Given the description of an element on the screen output the (x, y) to click on. 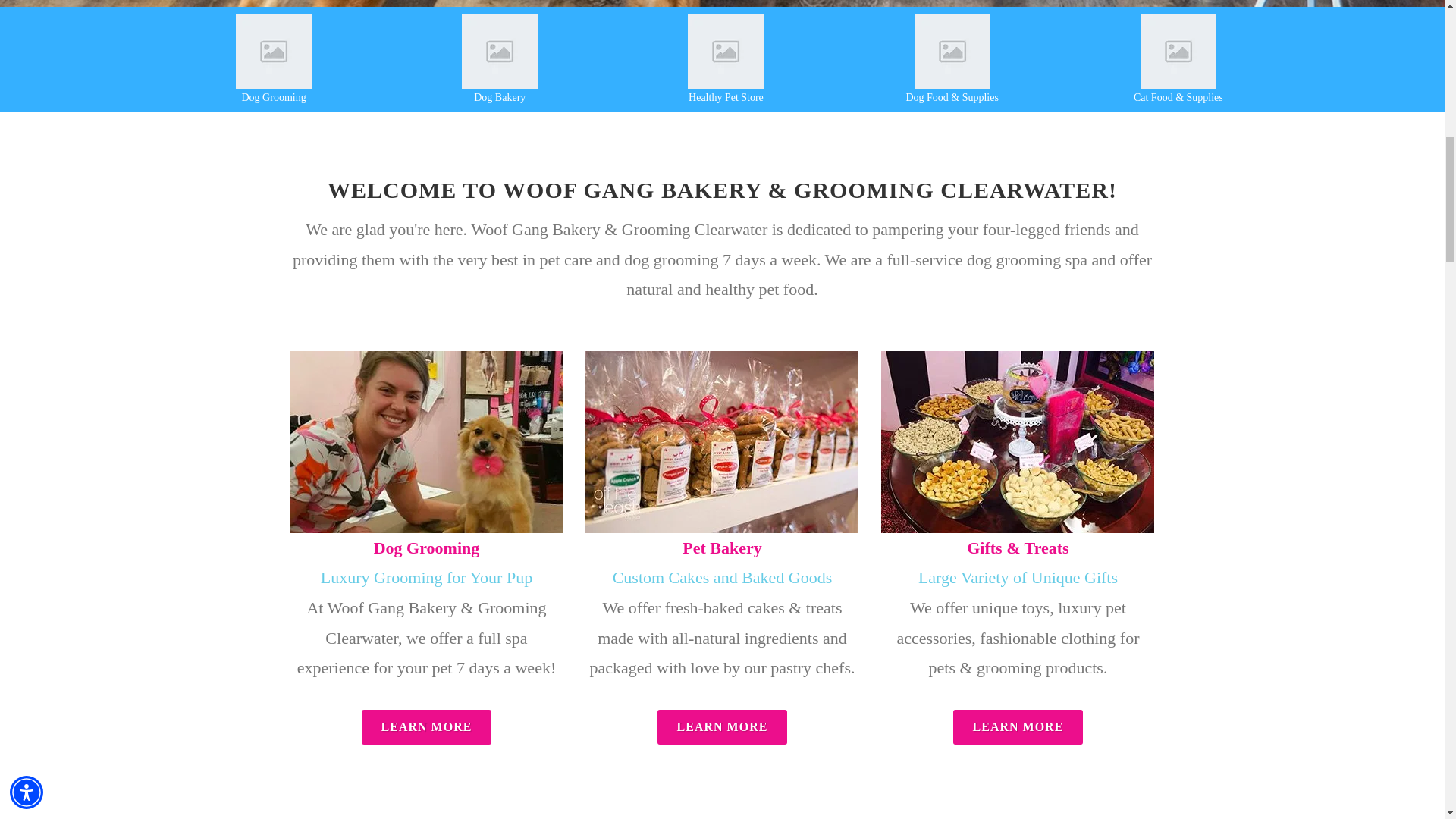
Healthy Pet Store (725, 97)
Dog Bakery (499, 97)
Dog Grooming in Clearwater (273, 51)
Dog Grooming (273, 97)
